Given the description of an element on the screen output the (x, y) to click on. 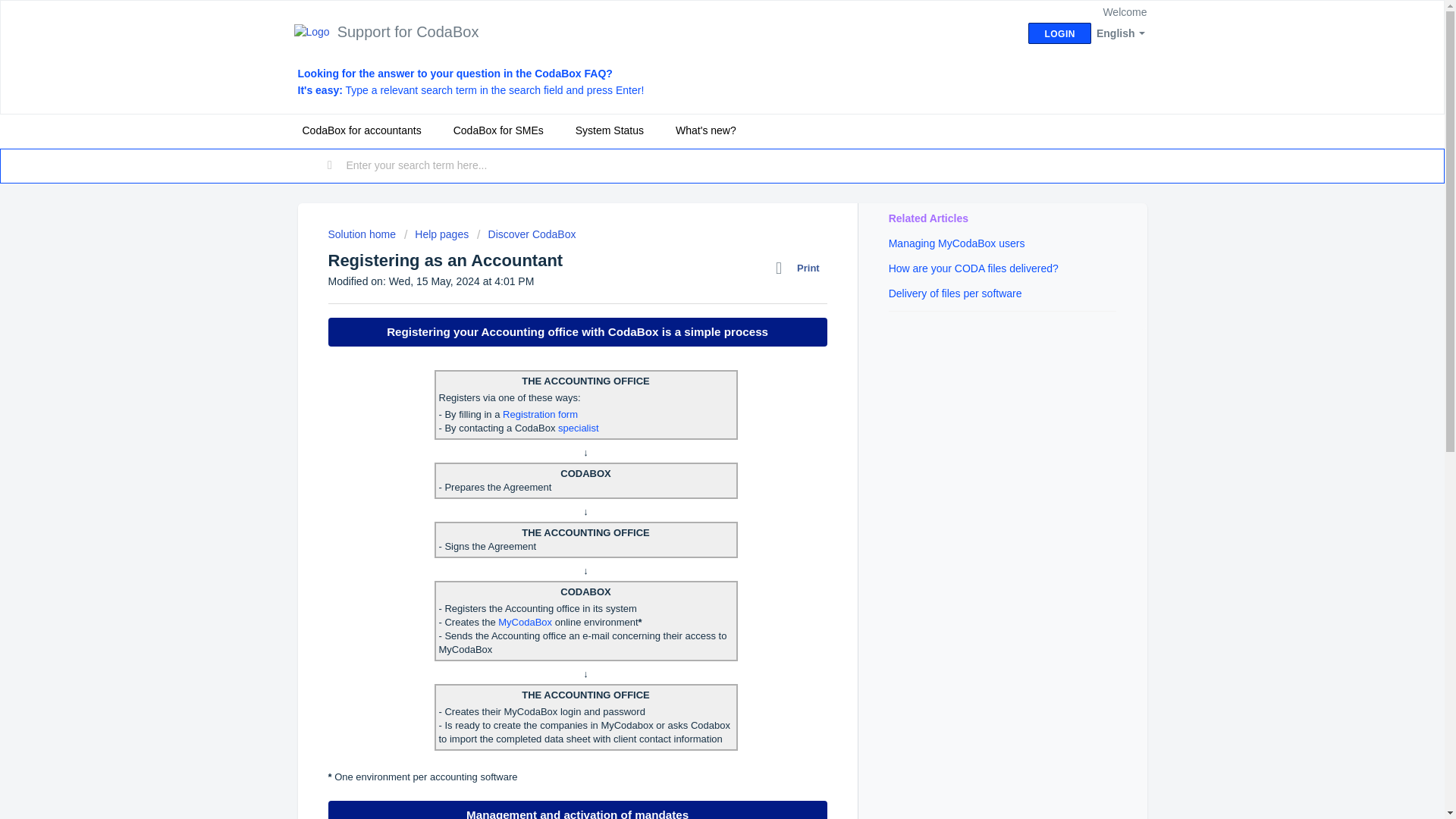
What's new? (706, 130)
CodaBox for SMEs (498, 130)
Help pages (436, 234)
MyCodaBox (524, 622)
Print this Article (801, 268)
Print (801, 268)
Registration form (540, 414)
Solution home (362, 234)
CodaBox for accountants (361, 130)
LOGIN (1058, 33)
